Given the description of an element on the screen output the (x, y) to click on. 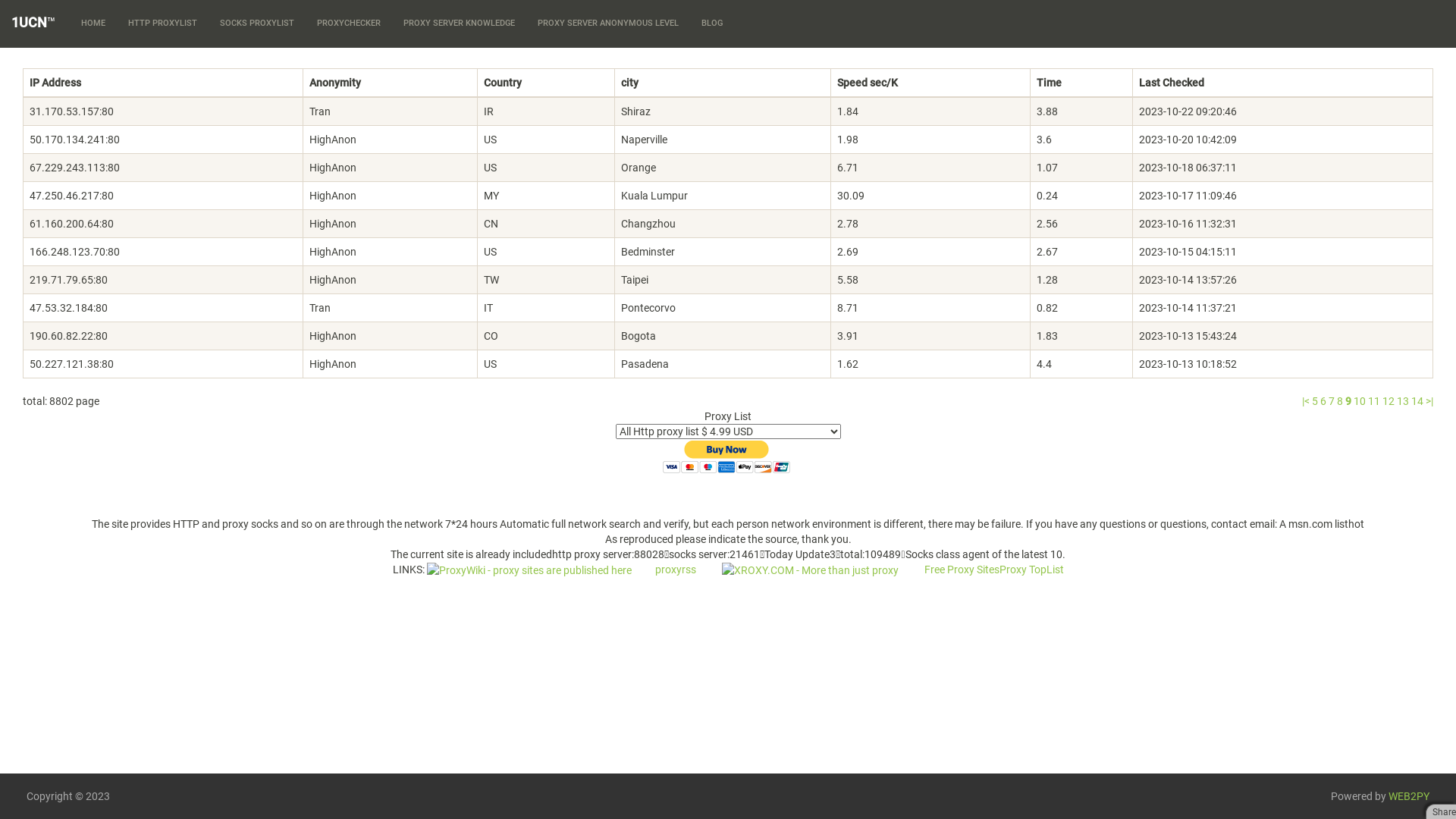
PROXYCHECKER Element type: text (348, 23)
HTTP PROXYLIST Element type: text (162, 23)
7 Element type: text (1331, 401)
9 Element type: text (1348, 401)
ProxyWiki - proxy sites are published here Element type: hover (528, 569)
5 Element type: text (1314, 401)
PROXY SERVER KNOWLEDGE Element type: text (459, 23)
HOME Element type: text (92, 23)
PROXY SERVER ANONYMOUS LEVEL Element type: text (608, 23)
BLOG Element type: text (712, 23)
14 Element type: text (1417, 401)
proxyrss Element type: text (673, 569)
13 Element type: text (1402, 401)
XROXY.COM - More than just proxy Element type: hover (809, 569)
Free Proxy Sites Element type: text (960, 569)
11 Element type: text (1374, 401)
8 Element type: text (1339, 401)
>| Element type: text (1429, 401)
SOCKS PROXYLIST Element type: text (256, 23)
12 Element type: text (1388, 401)
10 Element type: text (1359, 401)
WEB2PY Element type: text (1408, 796)
|< Element type: text (1305, 401)
6 Element type: text (1323, 401)
Proxy TopList Element type: text (1031, 569)
